Given the description of an element on the screen output the (x, y) to click on. 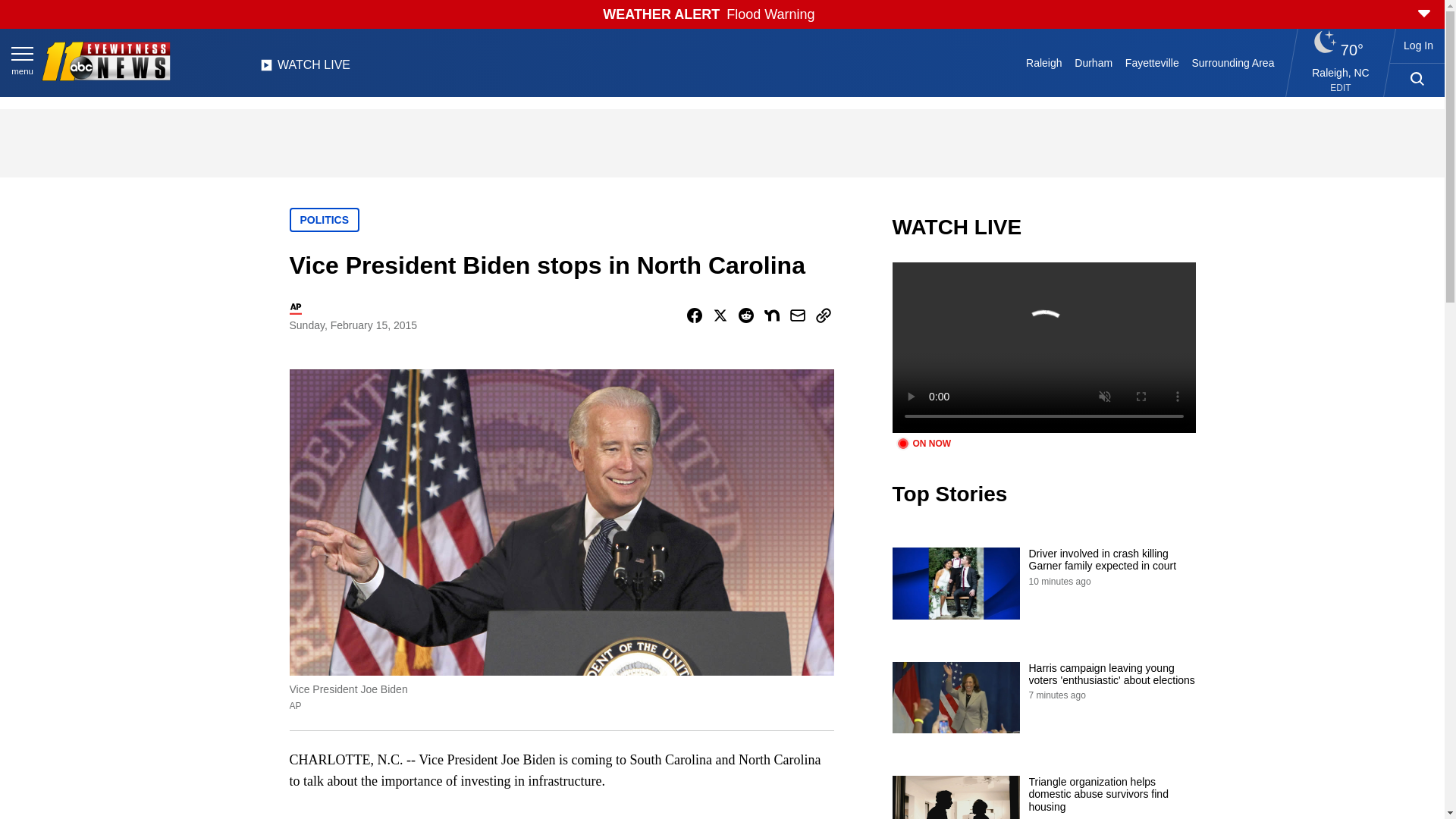
WATCH LIVE (305, 69)
Durham (1093, 62)
video.title (1043, 347)
Surrounding Area (1233, 62)
EDIT (1340, 87)
Fayetteville (1151, 62)
Raleigh (1044, 62)
Raleigh, NC (1340, 72)
